Given the description of an element on the screen output the (x, y) to click on. 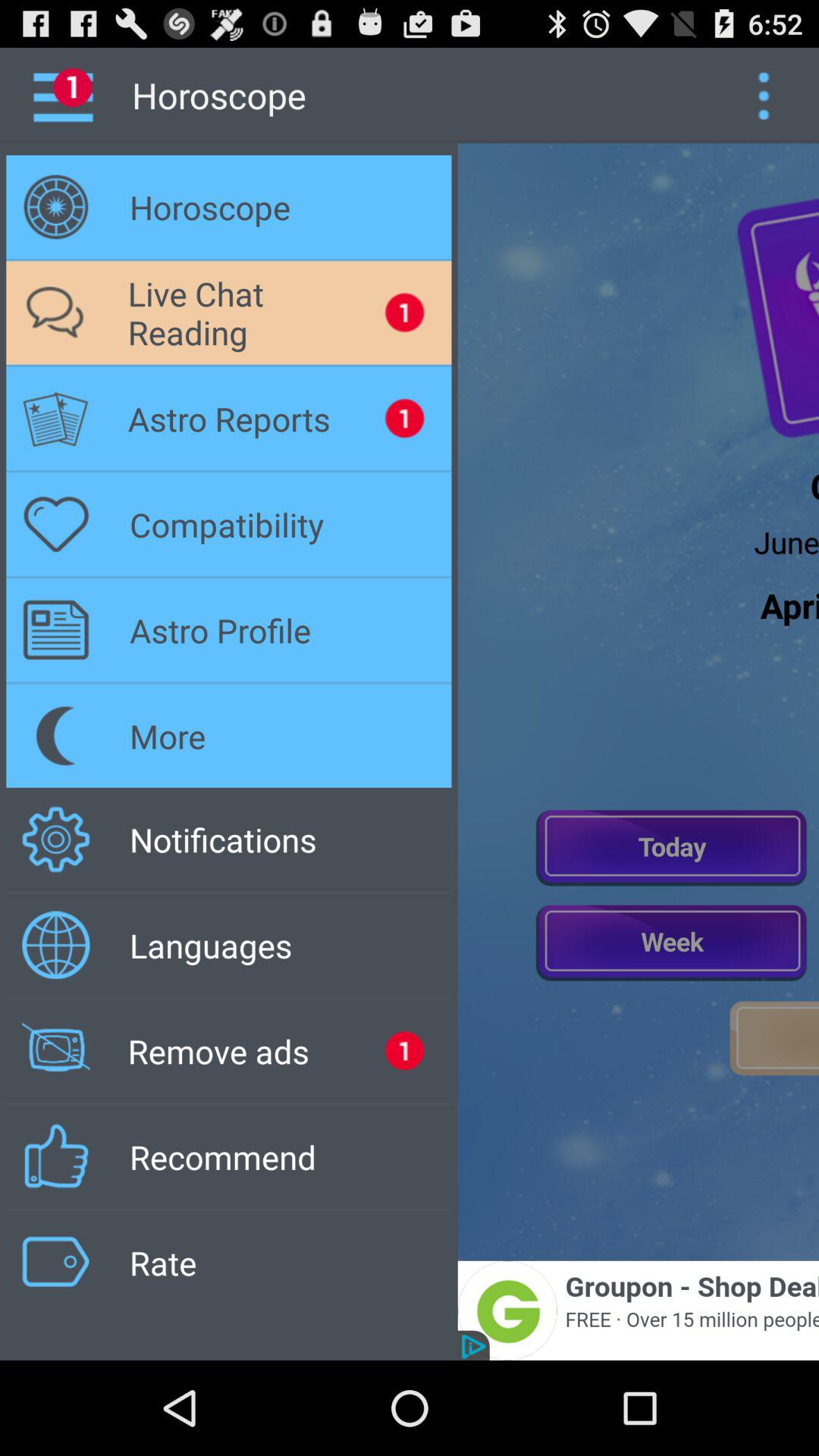
horoscope for the week (671, 940)
